Given the description of an element on the screen output the (x, y) to click on. 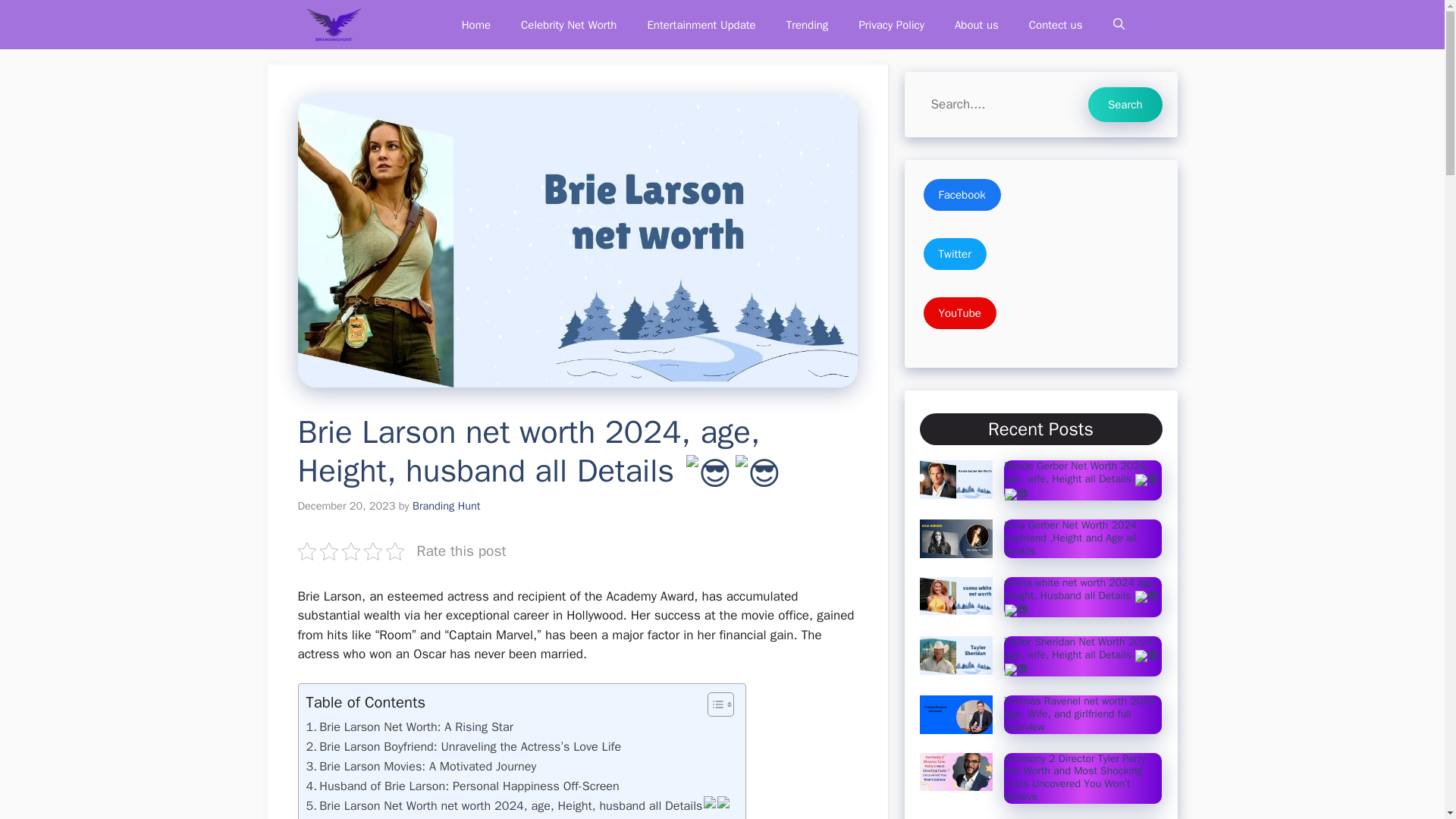
Brie Larson Height: Standing Tall in Hollywood (435, 817)
Privacy Policy (891, 23)
Brie Larson Net Worth: A Rising Star (409, 727)
About us (976, 23)
Branding Hunt (446, 505)
Celebrity Net Worth (568, 23)
Trending (807, 23)
Husband of Brie Larson: Personal Happiness Off-Screen (462, 786)
Home (475, 23)
Husband of Brie Larson: Personal Happiness Off-Screen (462, 786)
Brie Larson Net Worth: A Rising Star (409, 727)
Contect us (1055, 23)
Branding Hunt (332, 24)
Brie Larson Height: Standing Tall in Hollywood (435, 817)
